Given the description of an element on the screen output the (x, y) to click on. 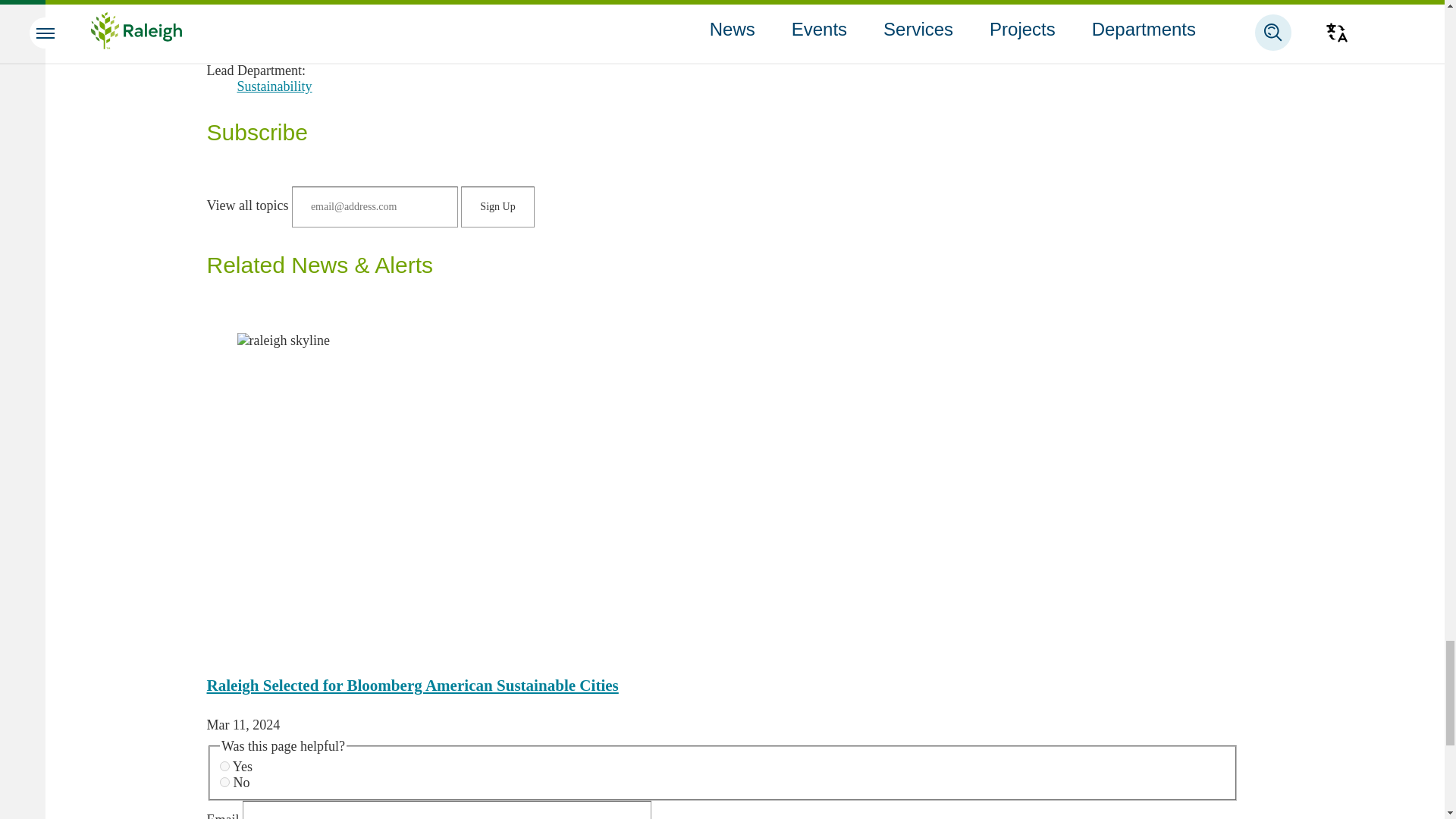
Sign Up (497, 206)
No (224, 782)
Yes (224, 766)
